Given the description of an element on the screen output the (x, y) to click on. 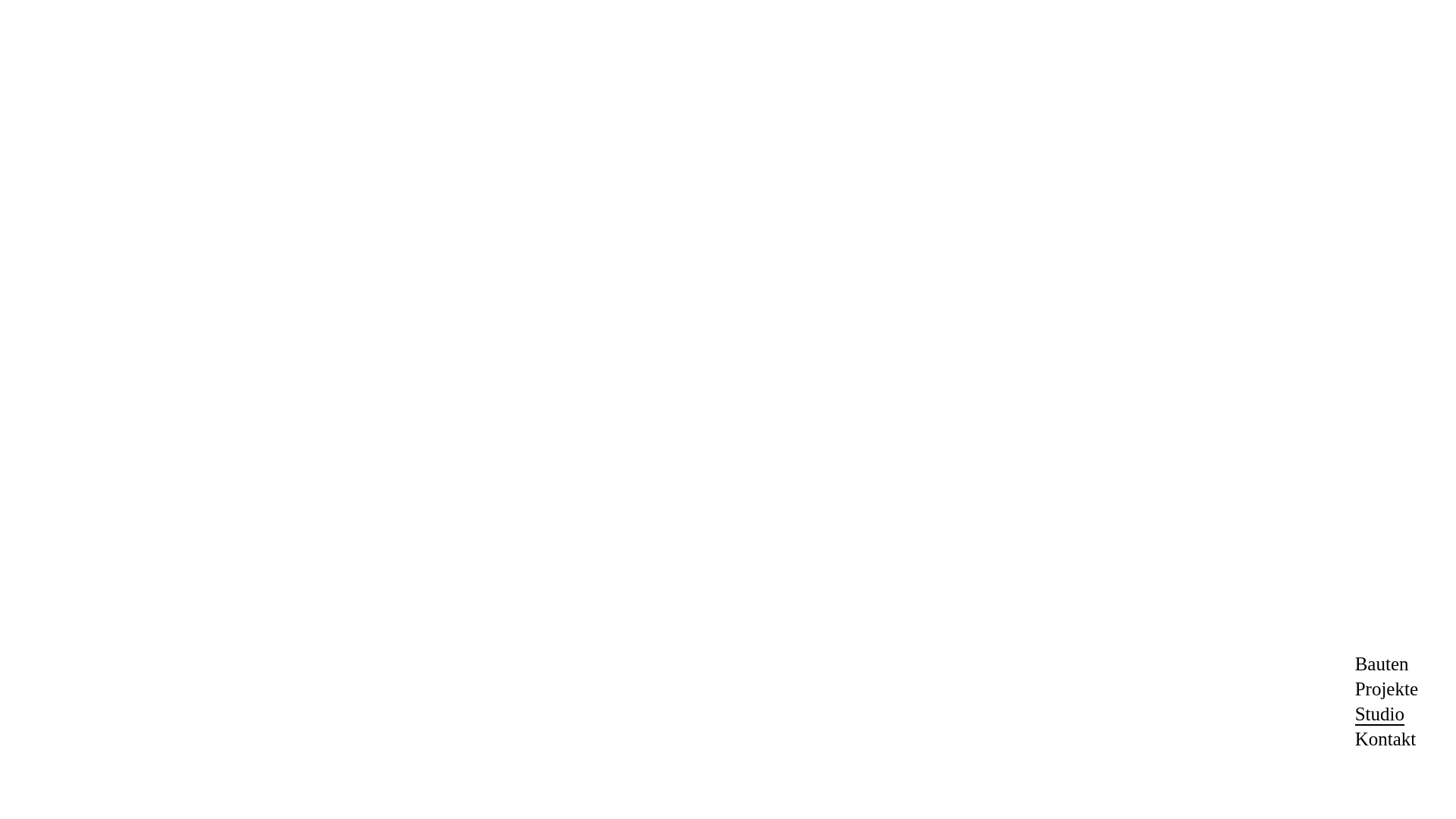
Kontakt Element type: text (1385, 738)
Bauten Element type: text (1381, 663)
Studio Element type: text (1379, 714)
Projekte Element type: text (1386, 688)
